Given the description of an element on the screen output the (x, y) to click on. 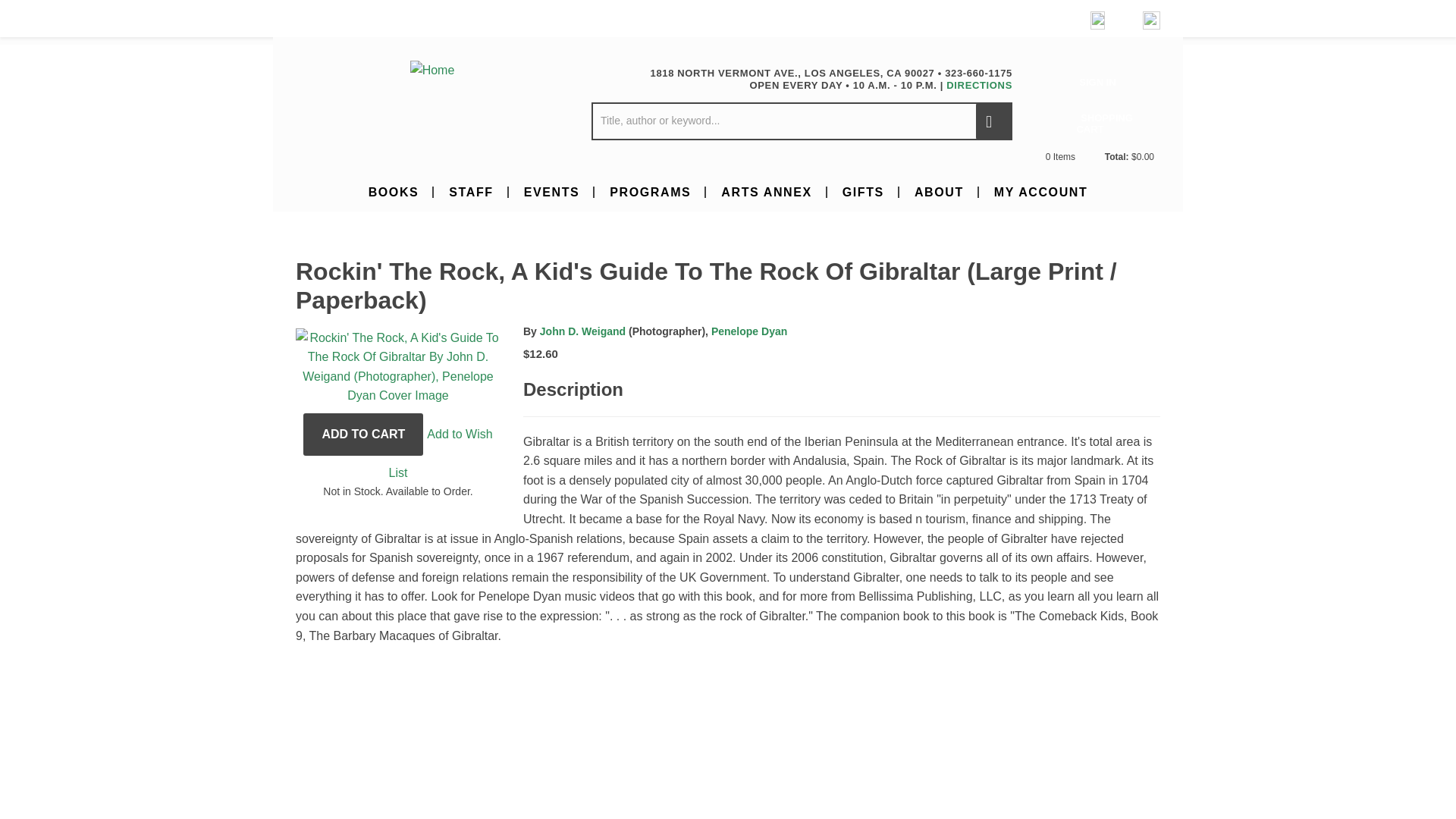
Title, author or keyword... (801, 121)
BOOKS (393, 191)
Add to Cart (362, 434)
STAFF (470, 191)
search (993, 121)
SIGN IN (1096, 81)
EVENTS (551, 191)
GIFTS (863, 191)
search (993, 121)
DIRECTIONS (978, 84)
